Given the description of an element on the screen output the (x, y) to click on. 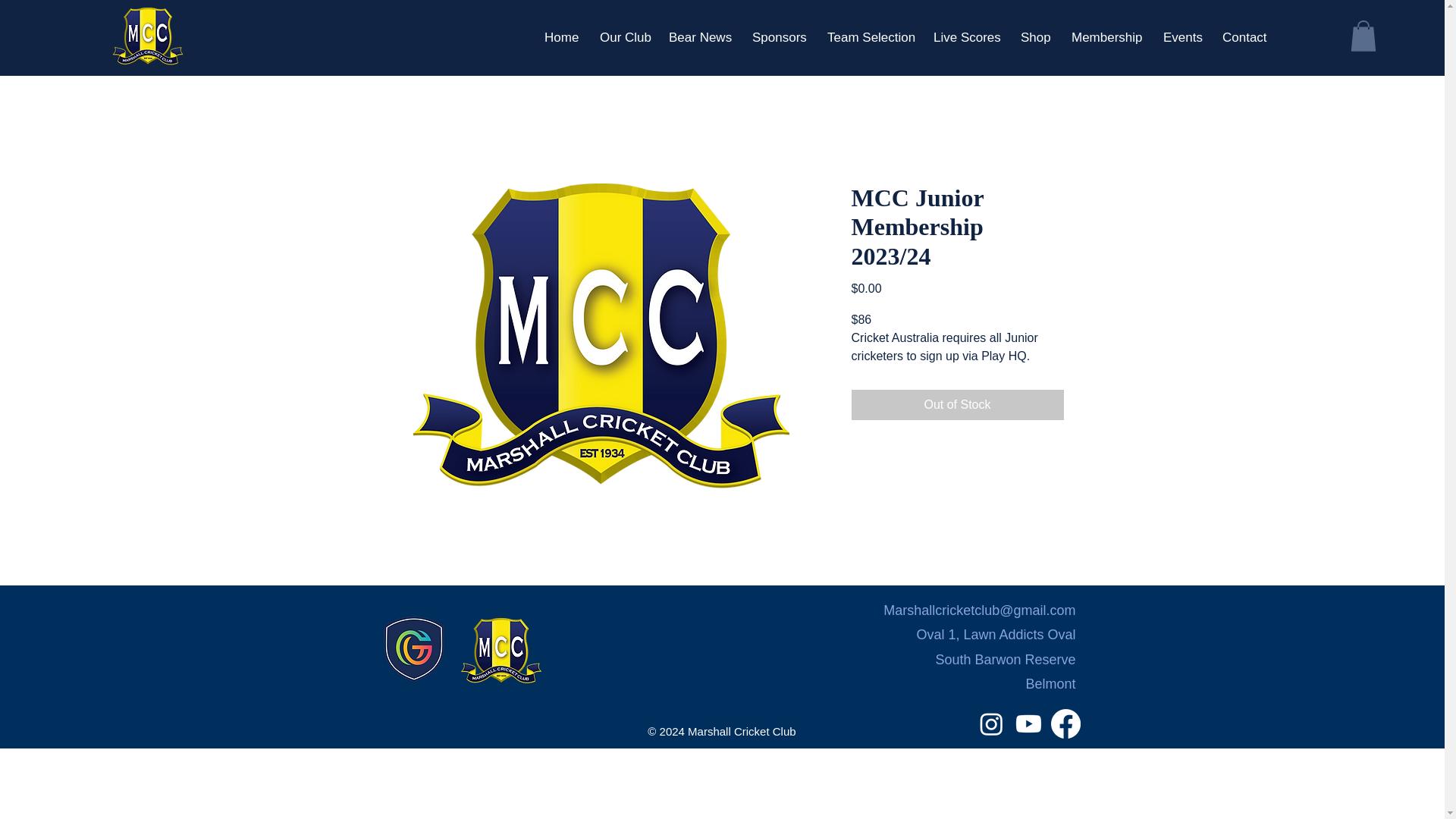
Contact (1243, 37)
Membership (1105, 37)
Sponsors (778, 37)
Live Scores (965, 37)
Bear News (699, 37)
Our Club (623, 37)
Out of Stock (956, 404)
Events (1181, 37)
Team Selection (868, 37)
Home (560, 37)
